Given the description of an element on the screen output the (x, y) to click on. 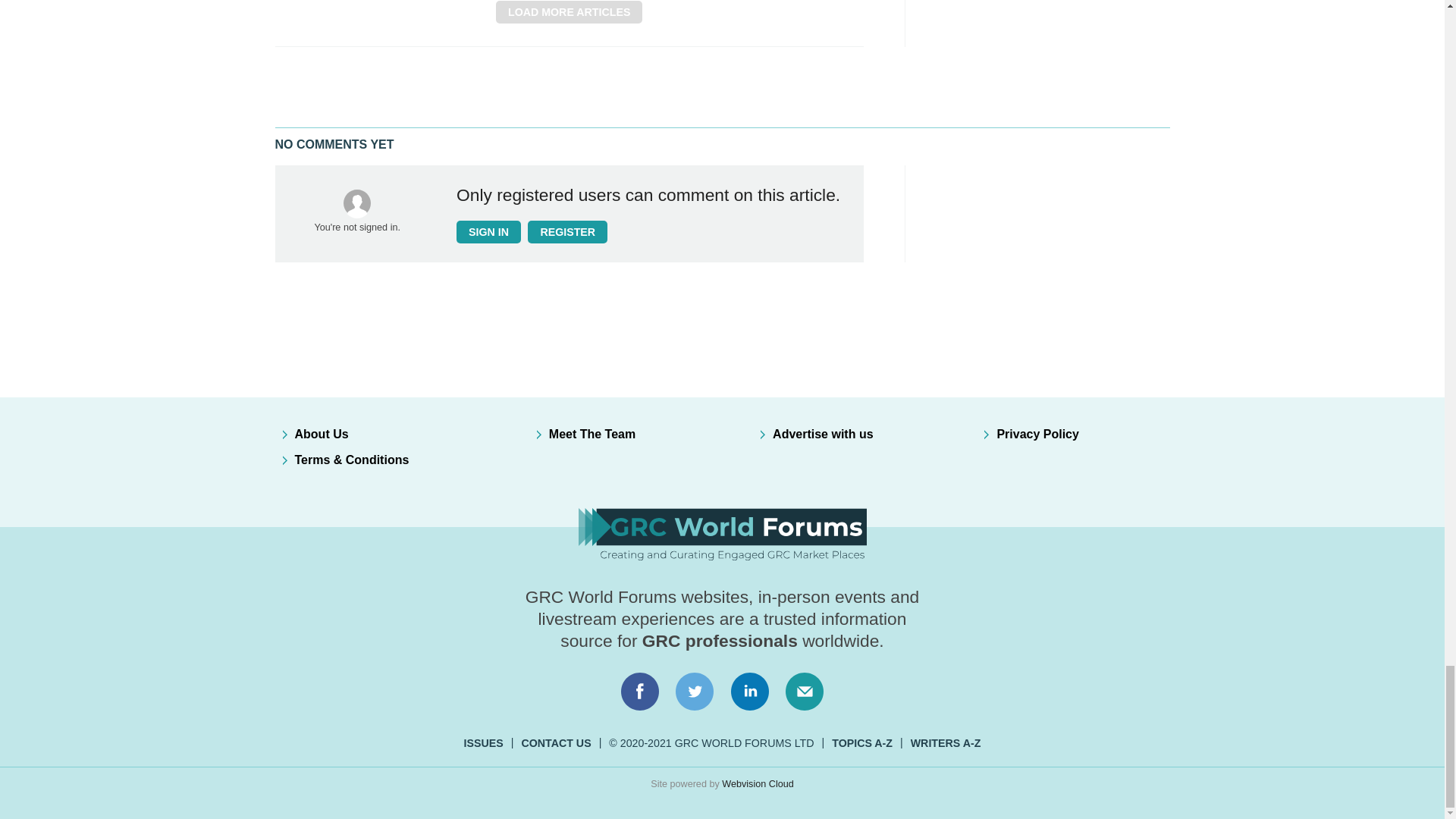
Connect with us on Twitter (694, 691)
Connect with us on Facebook (639, 691)
Connect with us on LinkedIn (750, 691)
Email us (804, 691)
